Given the description of an element on the screen output the (x, y) to click on. 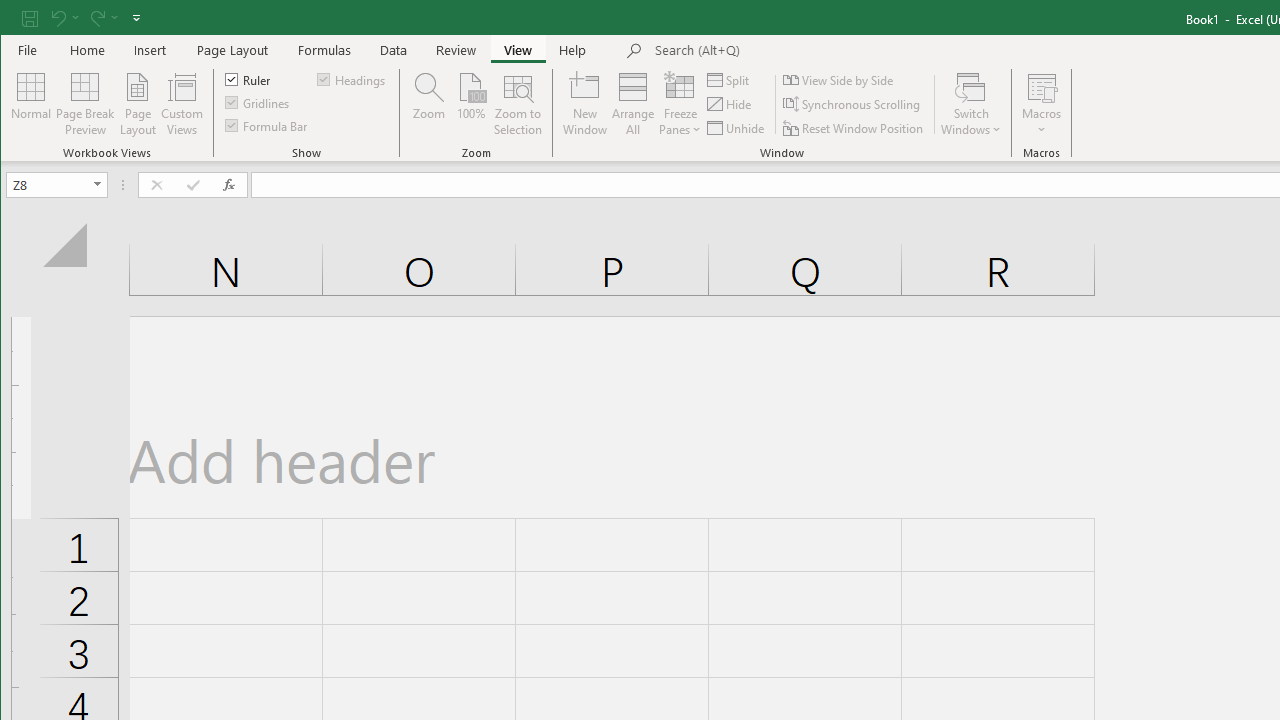
Quick Access Toolbar (83, 17)
